Given the description of an element on the screen output the (x, y) to click on. 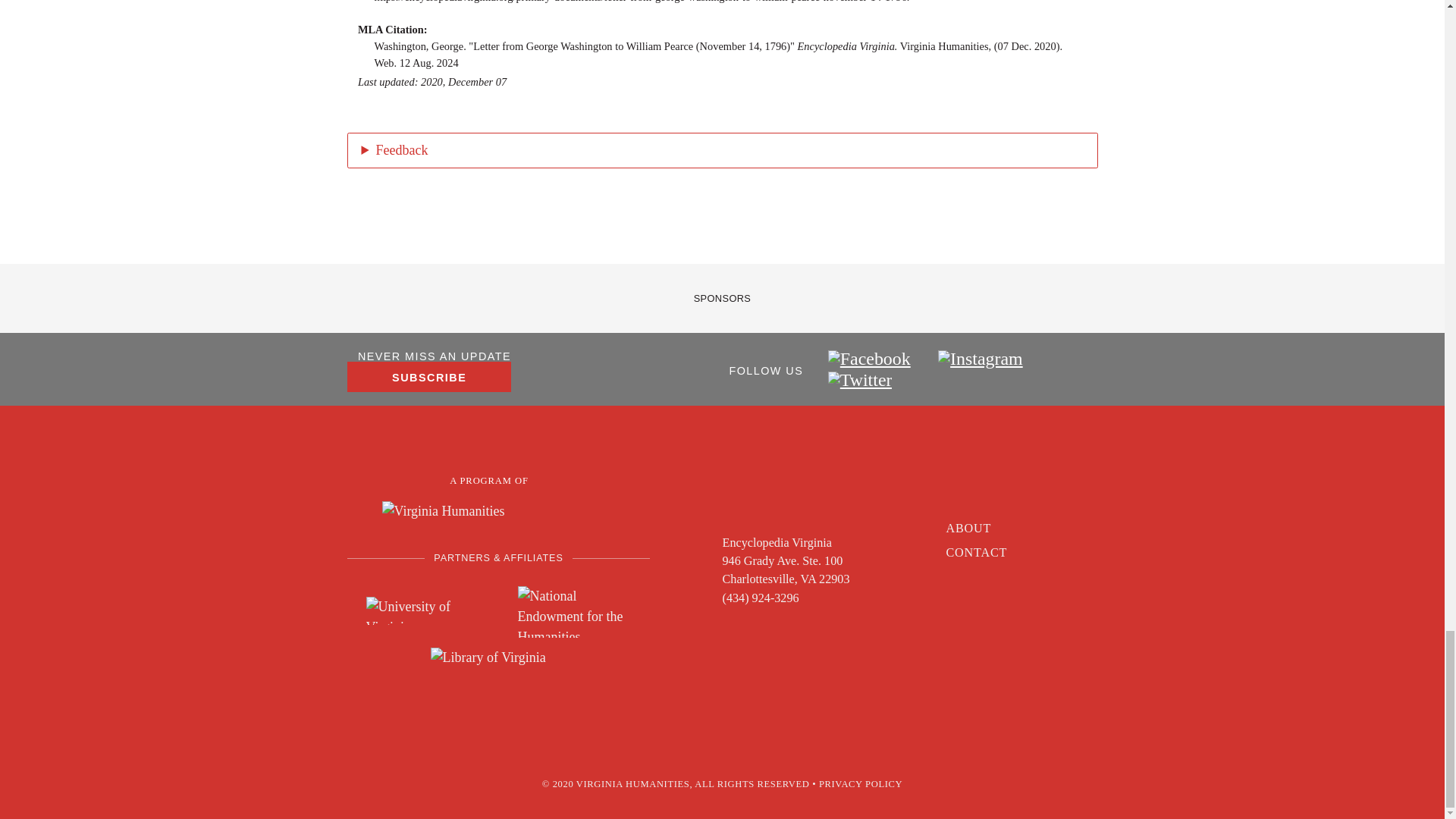
SPONSORS (722, 297)
SUBSCRIBE (429, 376)
Submit (396, 525)
